Given the description of an element on the screen output the (x, y) to click on. 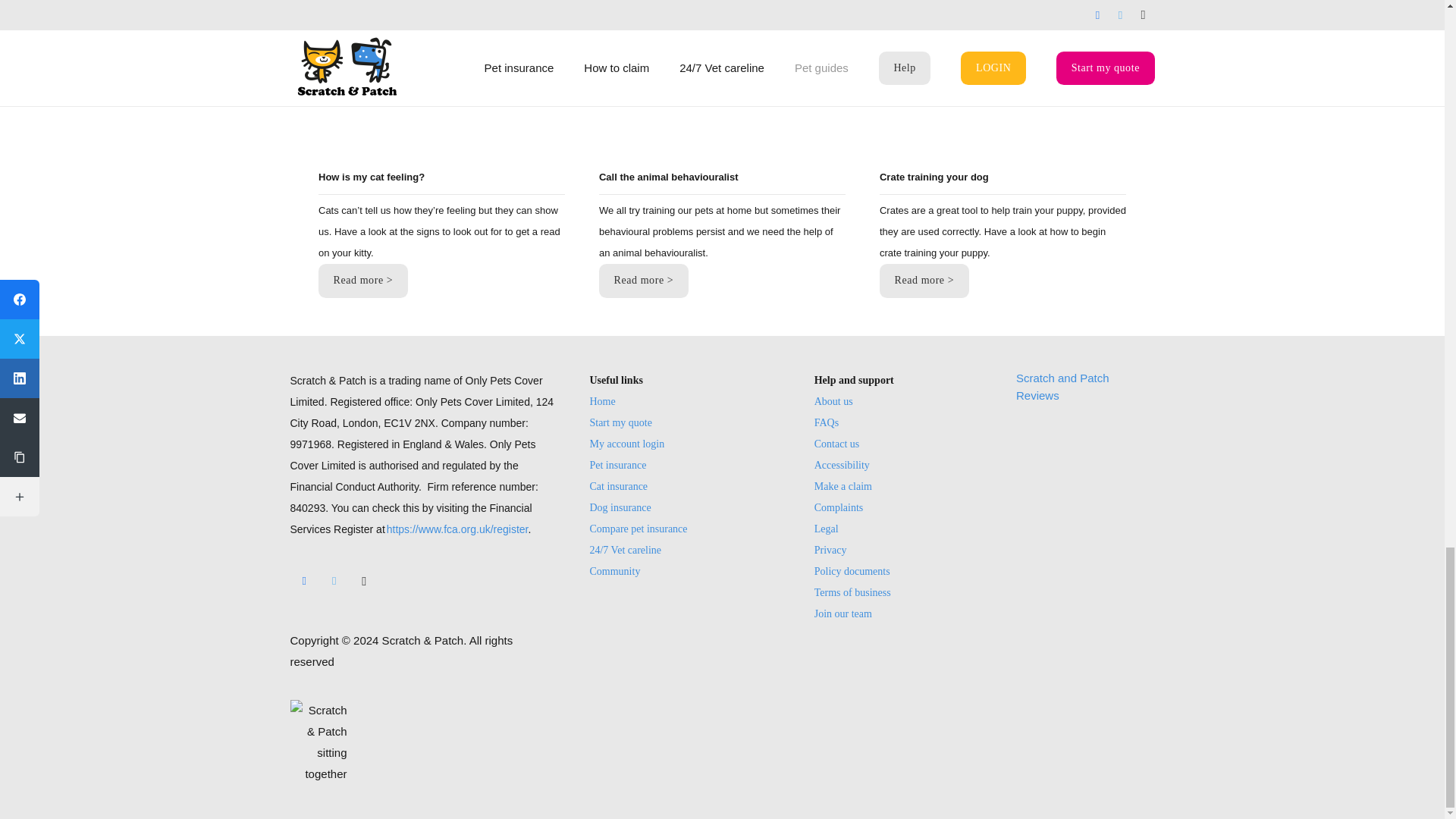
Twitter (334, 581)
Instagram (364, 581)
Facebook (303, 581)
